Given the description of an element on the screen output the (x, y) to click on. 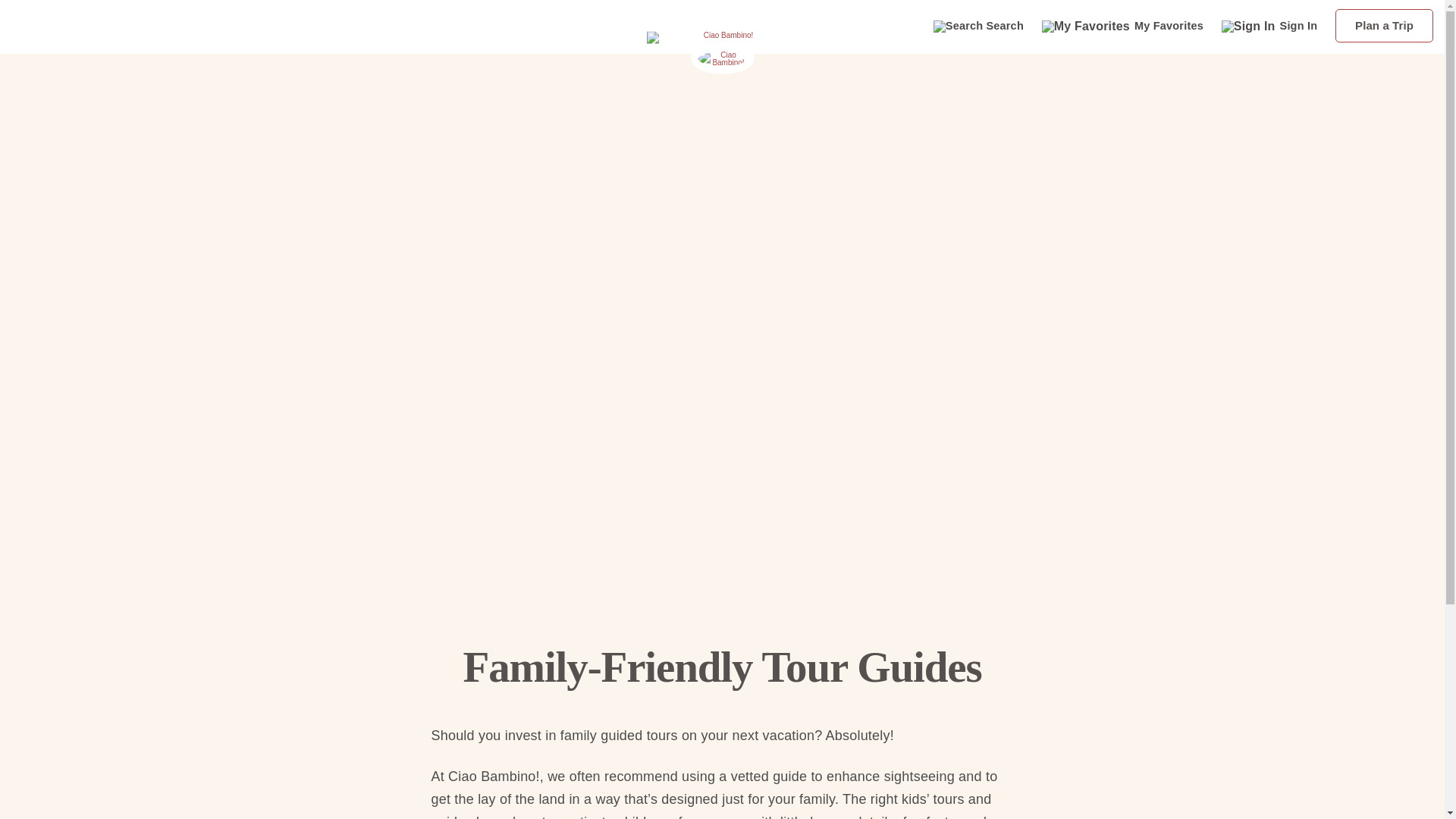
Sign In (1271, 24)
Sign In (1271, 24)
My Favorites (1125, 24)
Plan a Trip (1383, 25)
Plan a Trip (1383, 25)
My Favorites (1125, 24)
Search (980, 25)
Search (980, 25)
Ciao Bambino! (721, 54)
